Given the description of an element on the screen output the (x, y) to click on. 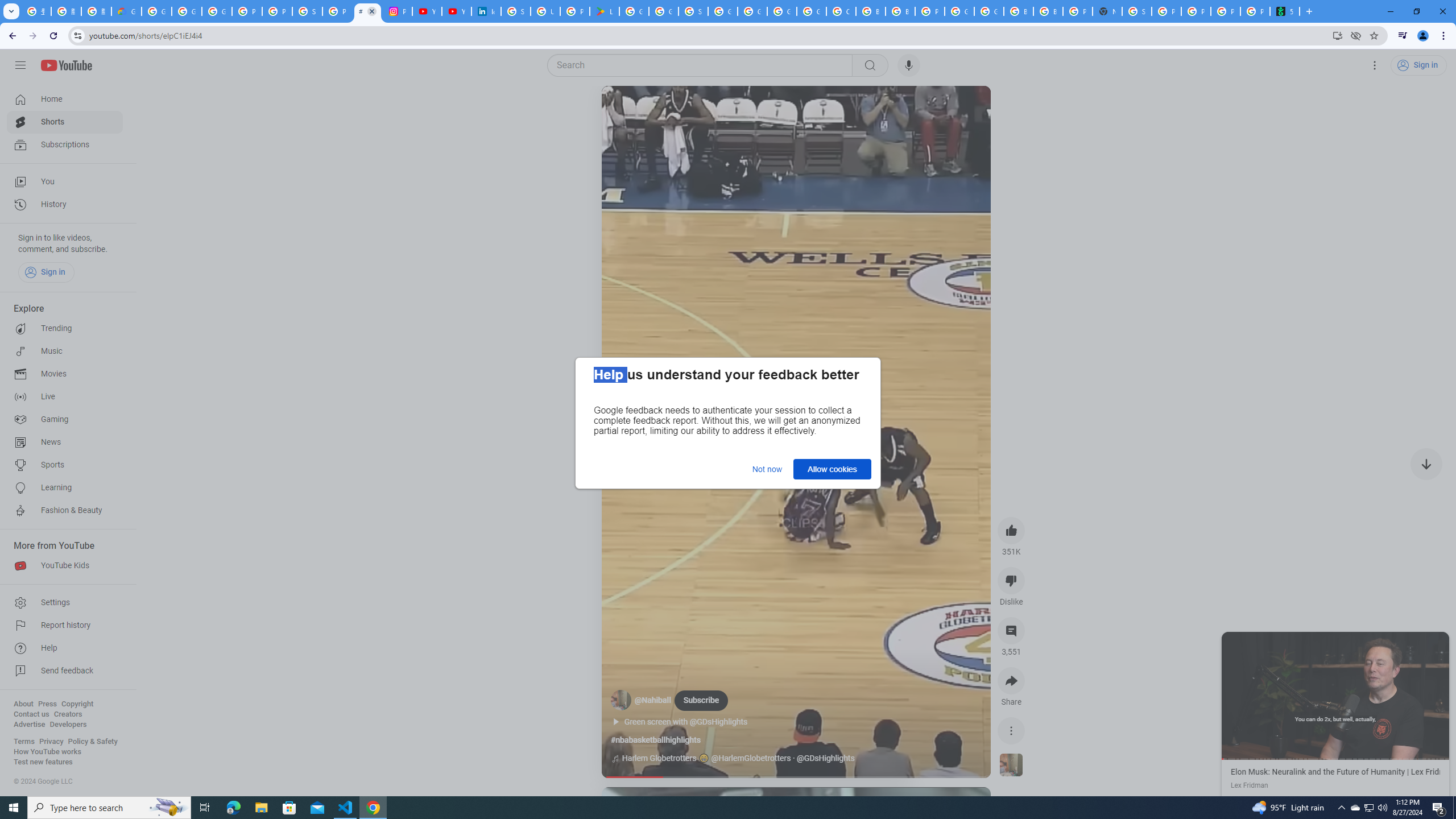
Shorts (64, 121)
View 3,551 comments (1011, 630)
YouTube Culture & Trends - On The Rise: Handcam Videos (426, 11)
Sign in - Google Accounts (692, 11)
New Tab (1106, 11)
Browse Chrome as a guest - Computer - Google Chrome Help (870, 11)
Mute (660, 108)
Search with your voice (908, 65)
